Given the description of an element on the screen output the (x, y) to click on. 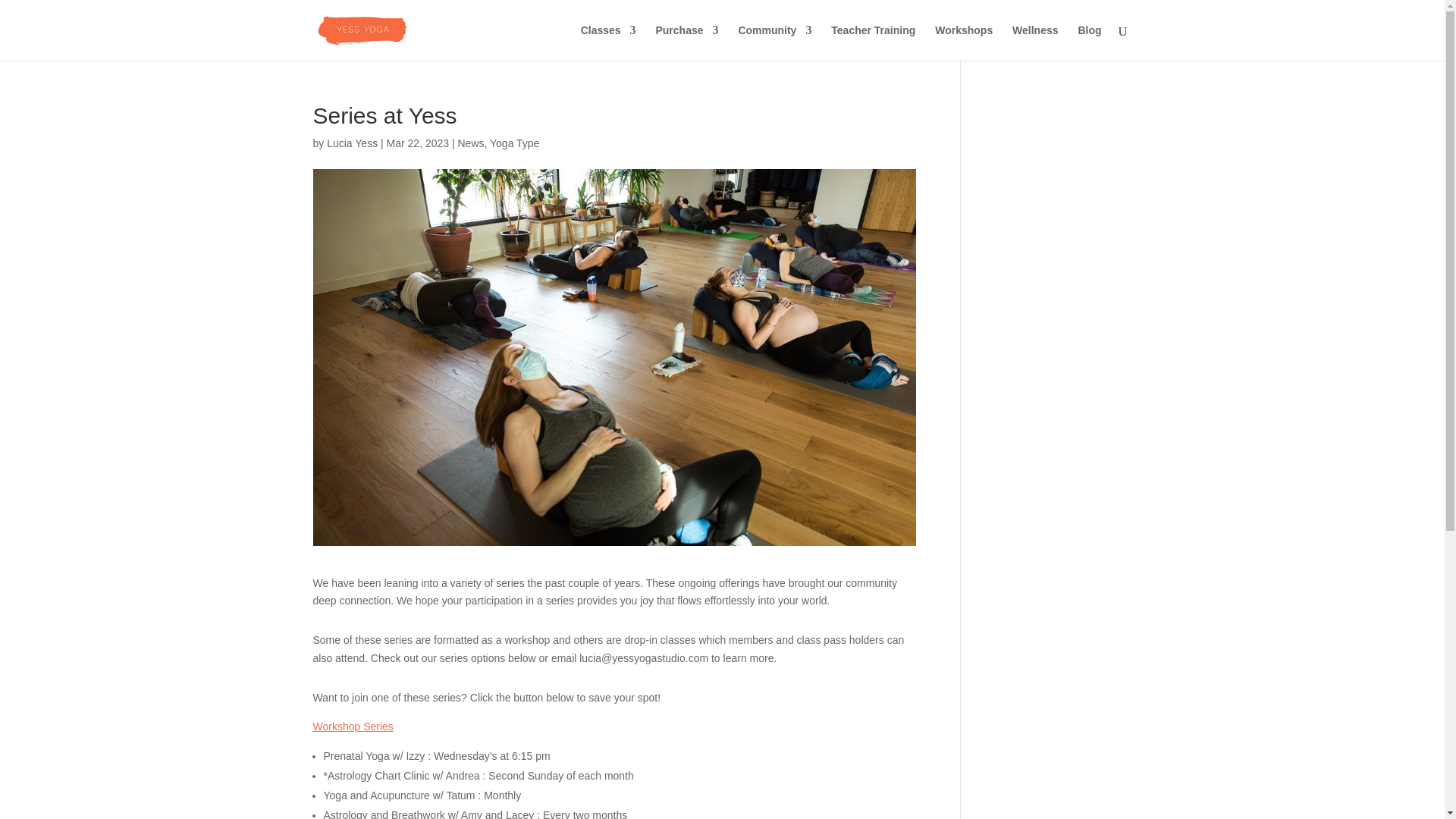
Workshop Series (353, 726)
Community (774, 42)
Teacher Training (873, 42)
Workshops (963, 42)
Lucia Yess (351, 143)
Wellness (1034, 42)
Purchase (686, 42)
Posts by Lucia Yess (351, 143)
News (470, 143)
Classes (608, 42)
Yoga Type (513, 143)
